Given the description of an element on the screen output the (x, y) to click on. 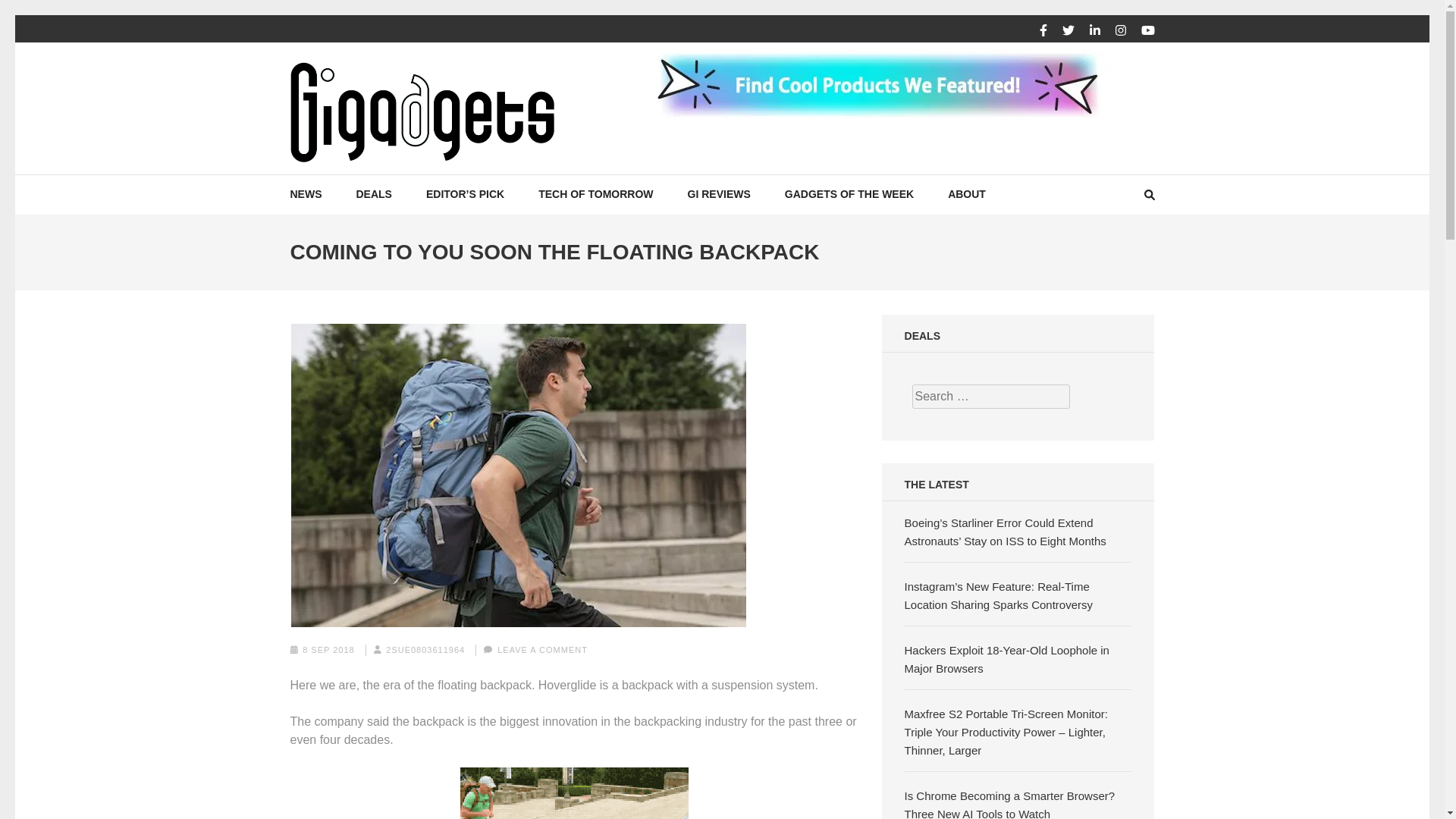
DEALS (373, 194)
2SUE0803611964 (424, 649)
8 SEP 2018 (328, 649)
TECH OF TOMORROW (595, 194)
GADGETS OF THE WEEK (849, 194)
YouTube (1147, 30)
ABOUT (966, 194)
Twitter (1068, 30)
LEAVE A COMMENT (542, 649)
GI REVIEWS (719, 194)
